Given the description of an element on the screen output the (x, y) to click on. 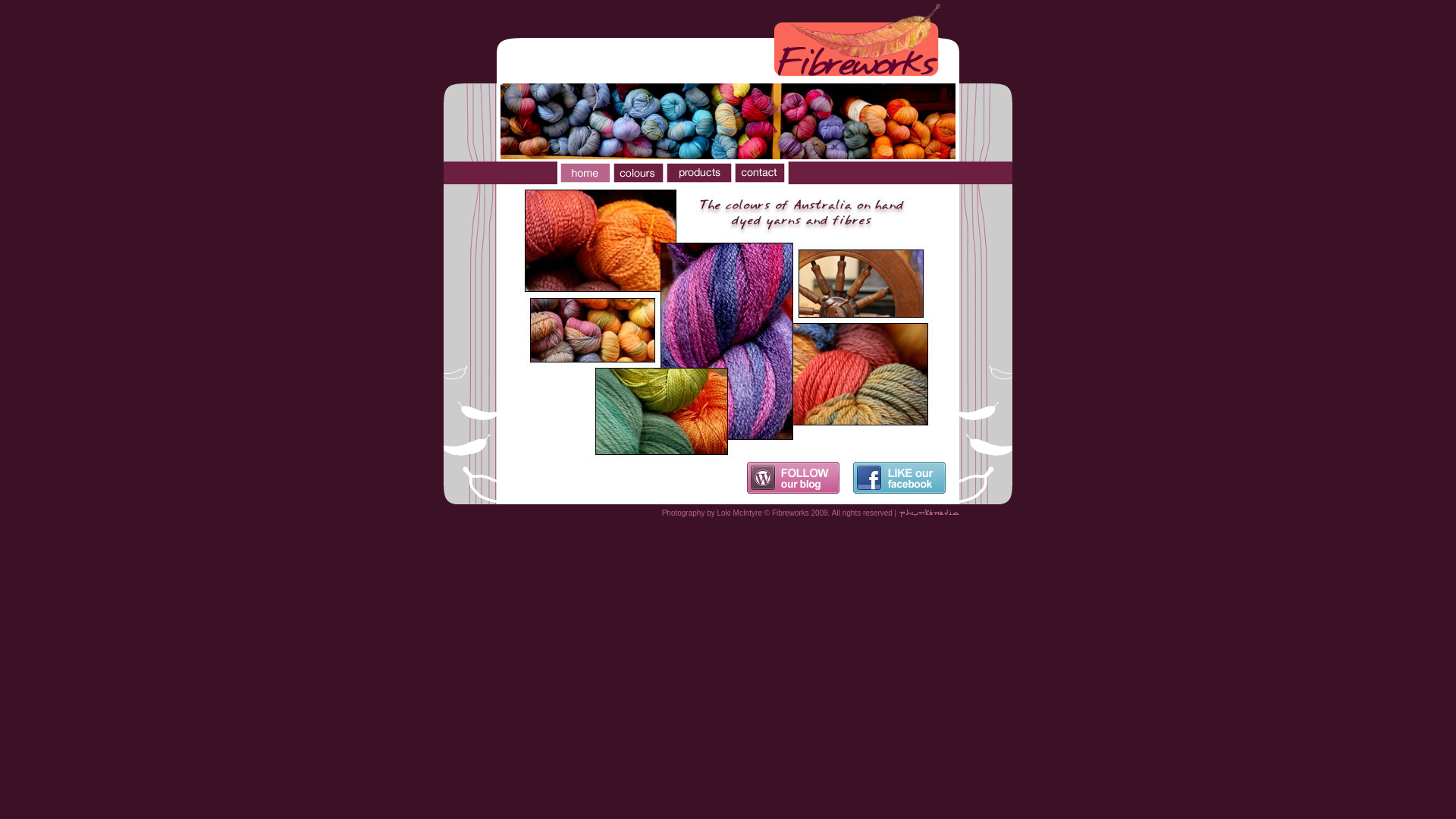
Visit the Fibreworks Facebook page Element type: hover (906, 477)
Fibreworks products Element type: hover (697, 172)
Yarns by Fibreworks Element type: hover (728, 322)
Fibreworks home Element type: hover (583, 172)
Follow Fibreworks Blog Element type: hover (799, 477)
Fibreworks colours Element type: hover (636, 172)
Contact Fibreworks Element type: hover (759, 172)
